Given the description of an element on the screen output the (x, y) to click on. 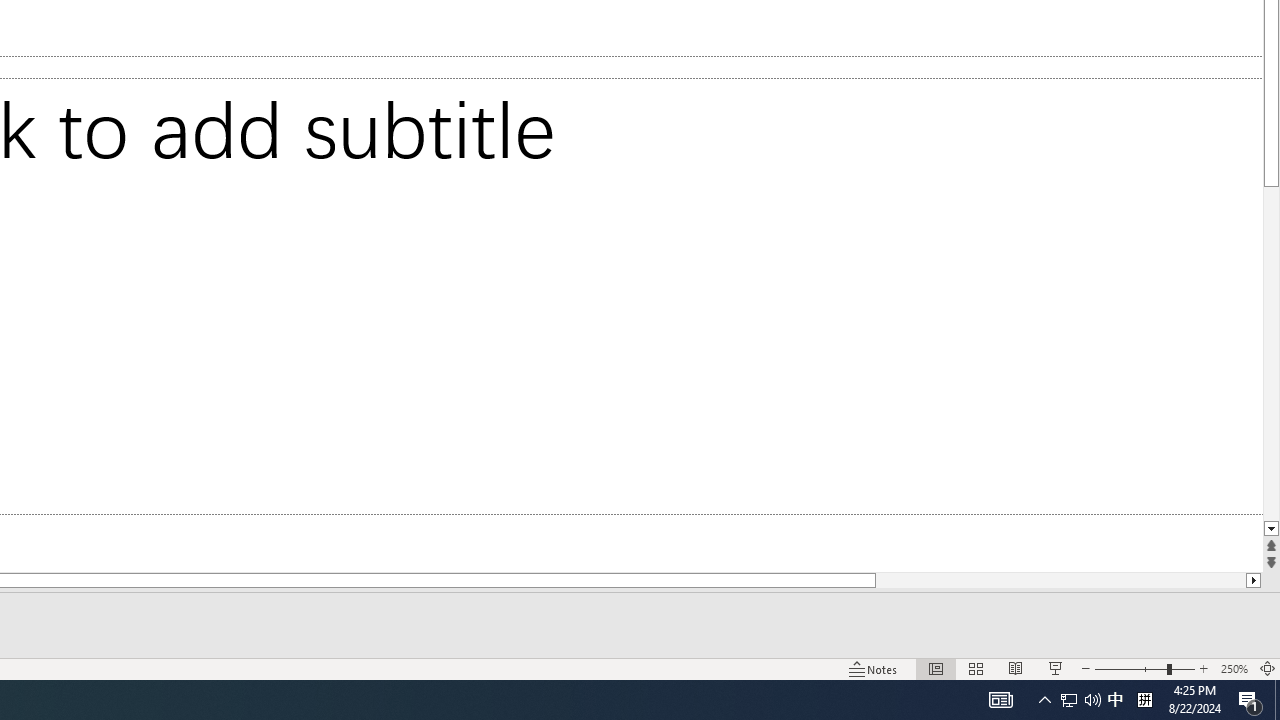
Zoom 250% (1234, 668)
